Given the description of an element on the screen output the (x, y) to click on. 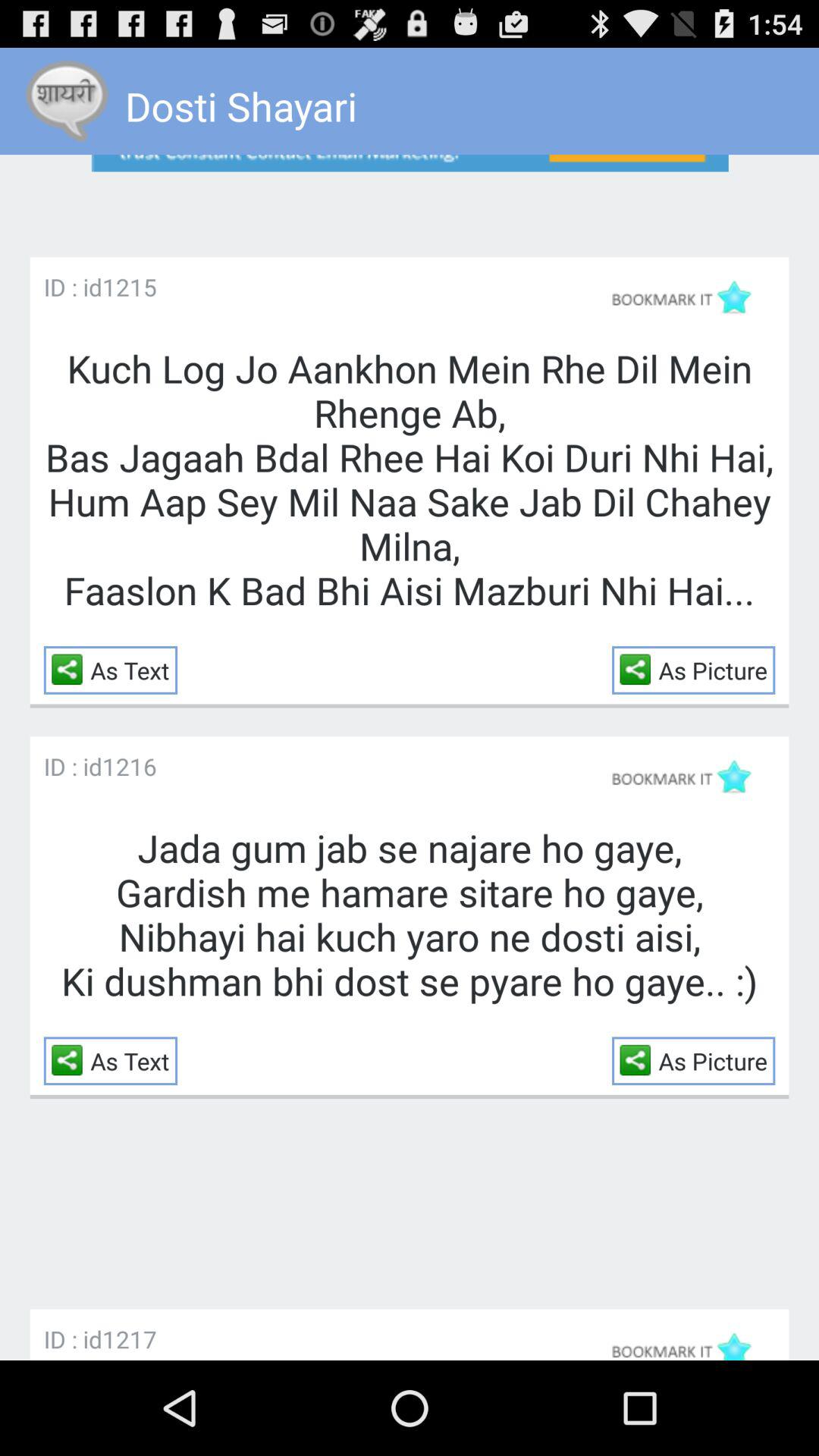
open the 1216 item (129, 766)
